Given the description of an element on the screen output the (x, y) to click on. 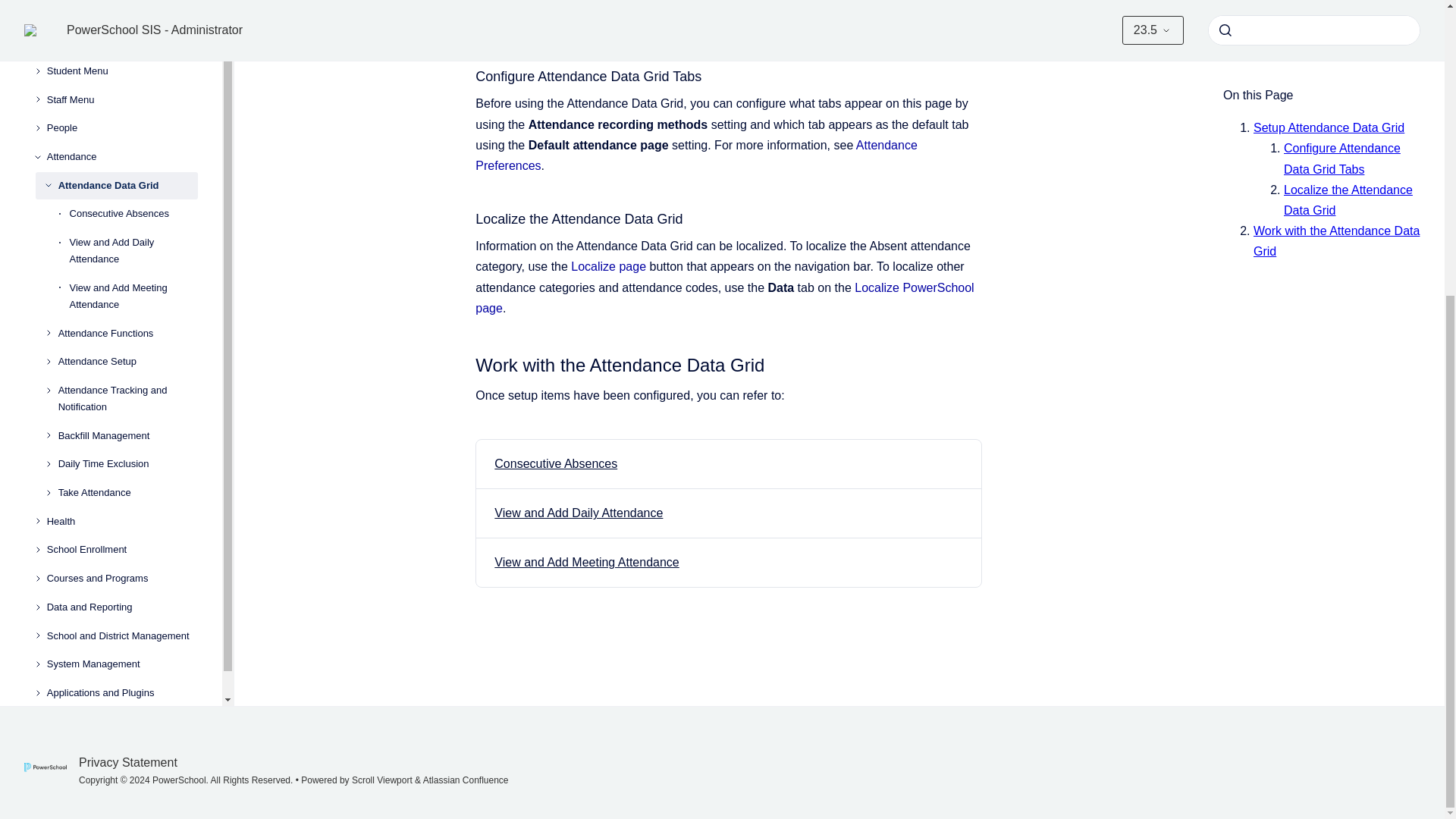
View and Add Daily Attendance (578, 512)
Attendance Functions (128, 2)
Consecutive Absences (556, 463)
School Enrollment (122, 208)
Backfill Management (128, 94)
Attendance Tracking and Notification (128, 57)
View and Add Meeting Attendance (586, 562)
Take Attendance (128, 151)
Health (122, 180)
Daily Time Exclusion (128, 123)
